Given the description of an element on the screen output the (x, y) to click on. 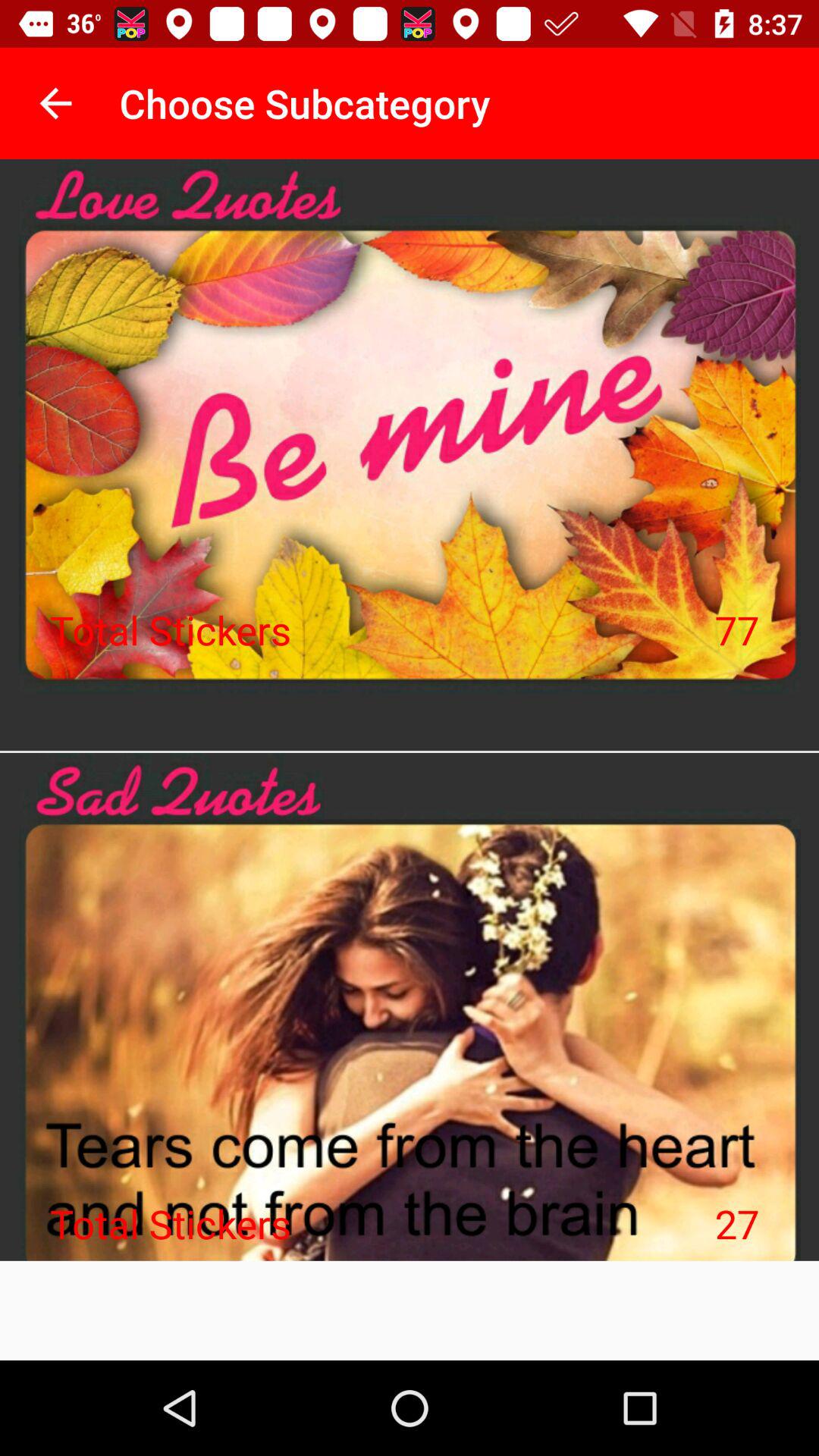
choose the item next to the total stickers (736, 1223)
